Given the description of an element on the screen output the (x, y) to click on. 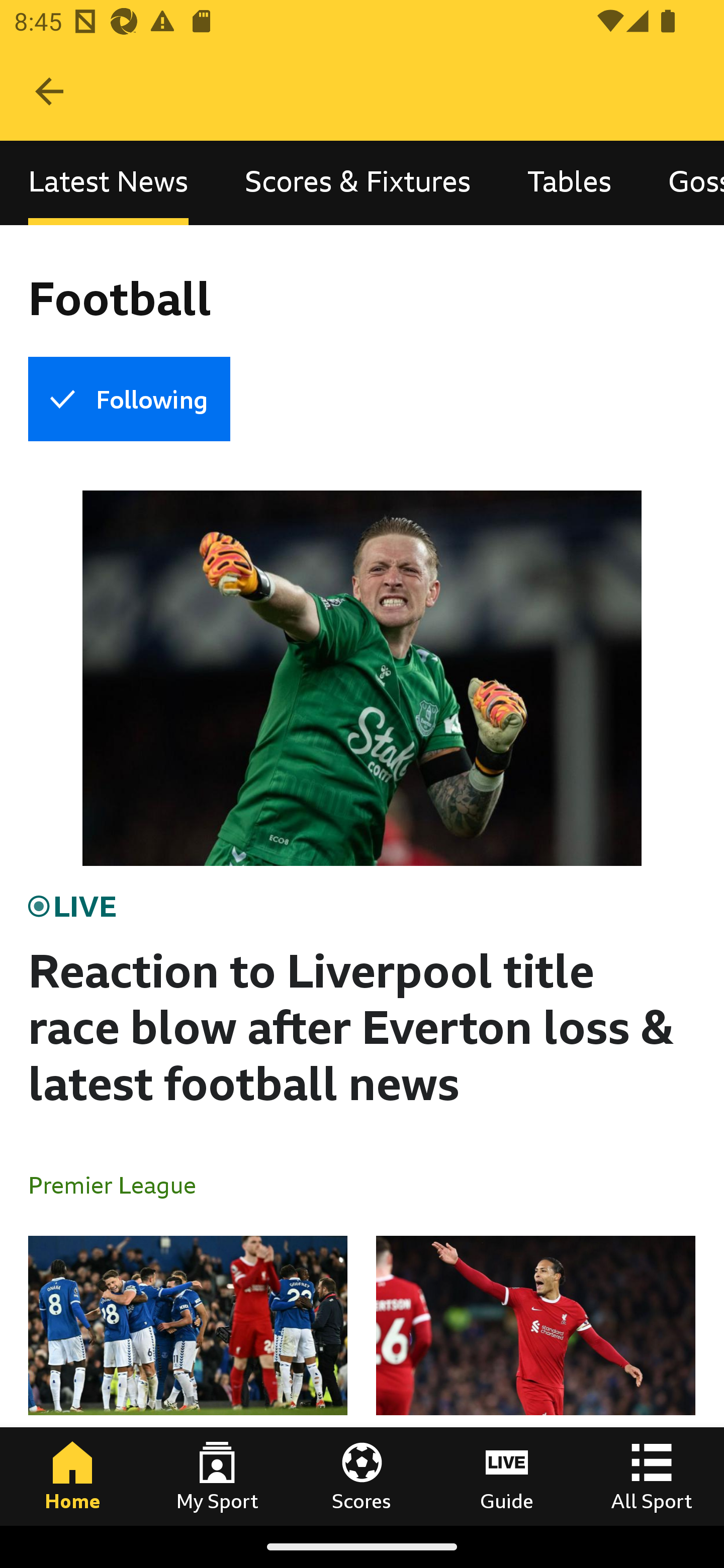
Navigate up (49, 91)
Latest News, selected Latest News (108, 183)
Scores & Fixtures (357, 183)
Tables (569, 183)
Following Football Following (129, 398)
Premier League In the section Premier League (119, 1184)
Van Dijk questions desire of team-mates after loss (535, 1380)
My Sport (216, 1475)
Scores (361, 1475)
Guide (506, 1475)
All Sport (651, 1475)
